Given the description of an element on the screen output the (x, y) to click on. 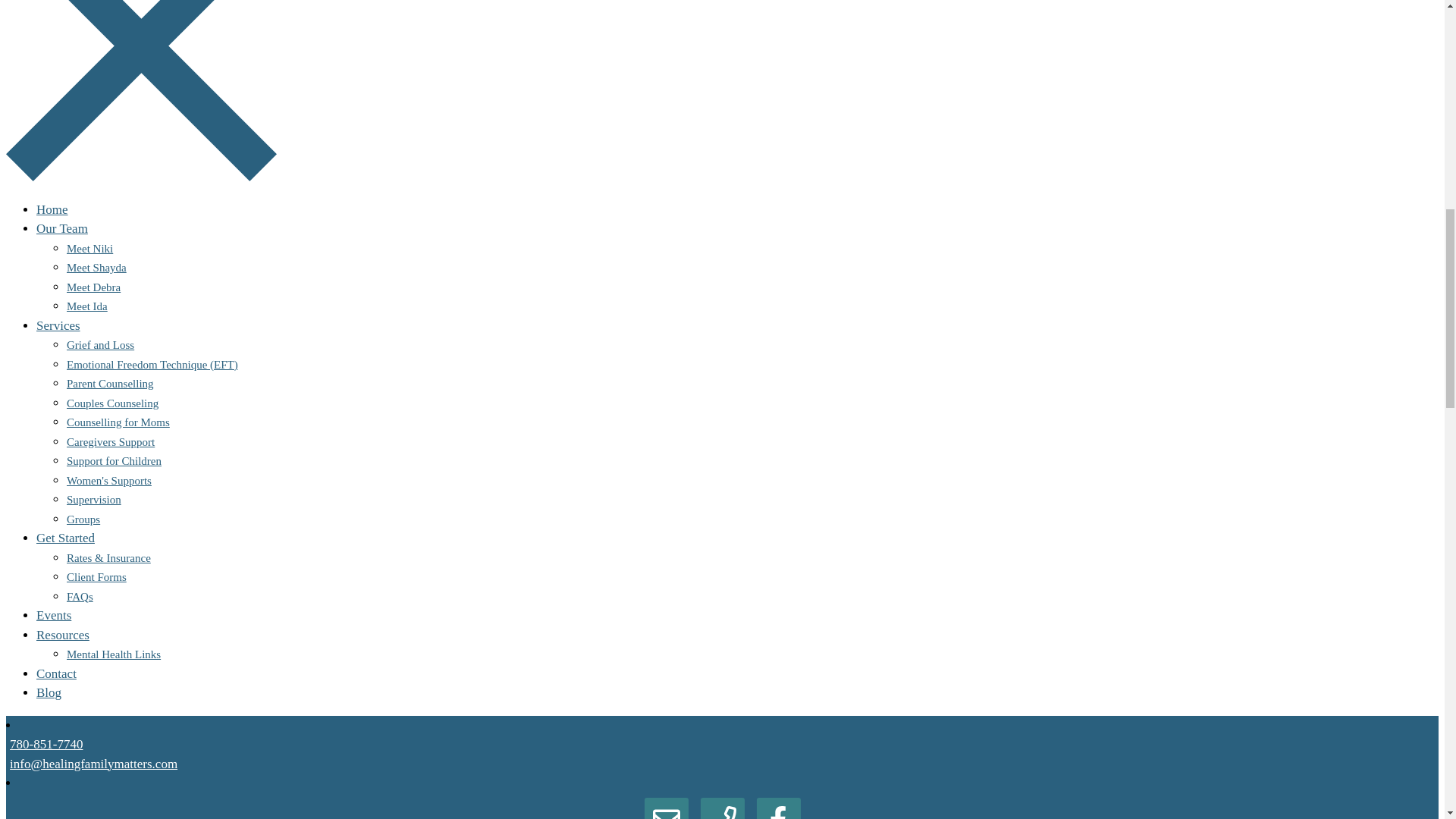
Meet Shayda (96, 267)
Meet Niki (89, 248)
Home (52, 208)
Our Team (61, 228)
